Given the description of an element on the screen output the (x, y) to click on. 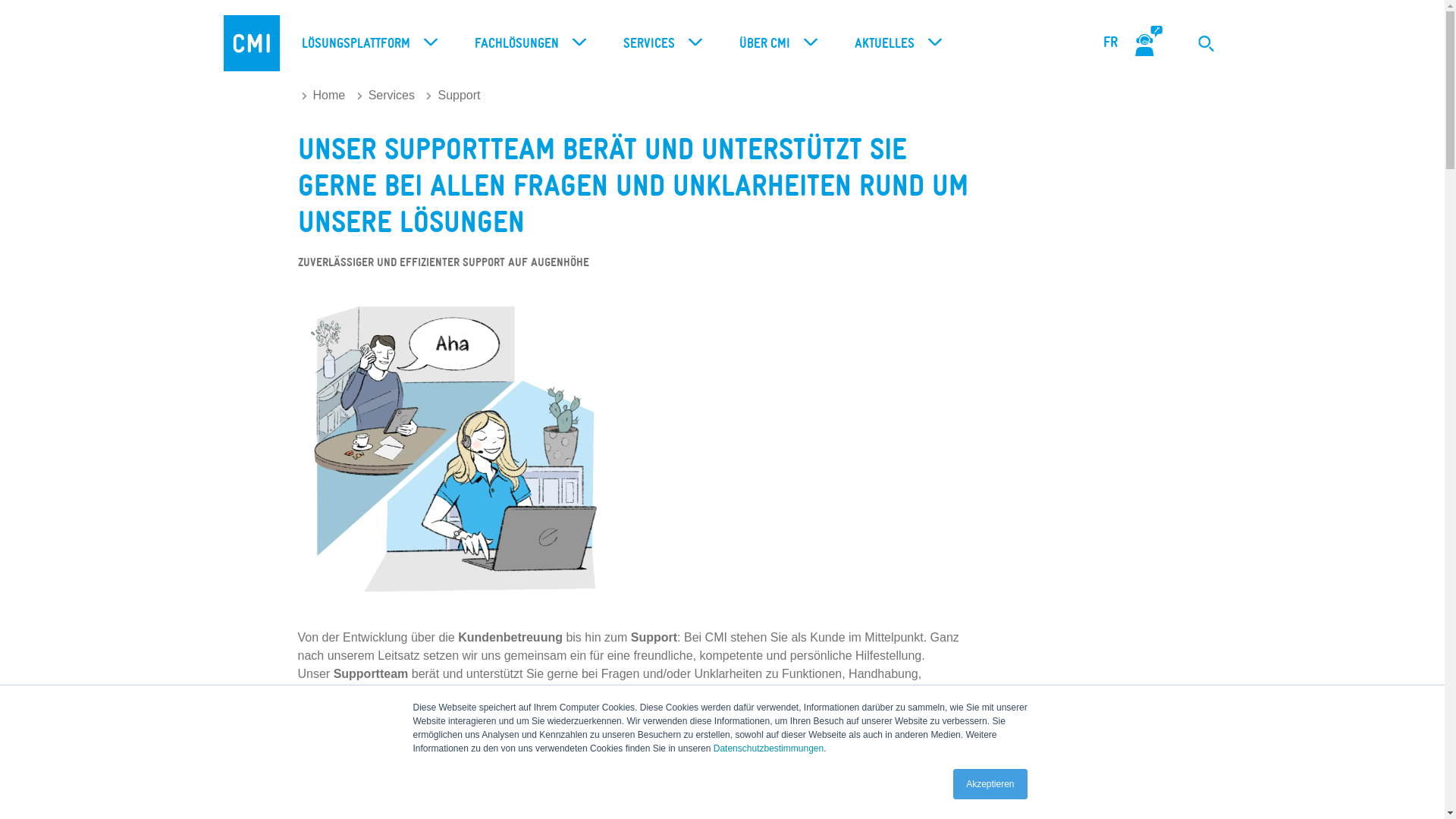
Home Element type: text (323, 94)
FR Element type: text (1110, 42)
Akzeptieren Element type: text (989, 783)
AKTUELLES Element type: text (893, 43)
Datenschutzbestimmungen Element type: text (768, 748)
Services Element type: text (385, 94)
